Given the description of an element on the screen output the (x, y) to click on. 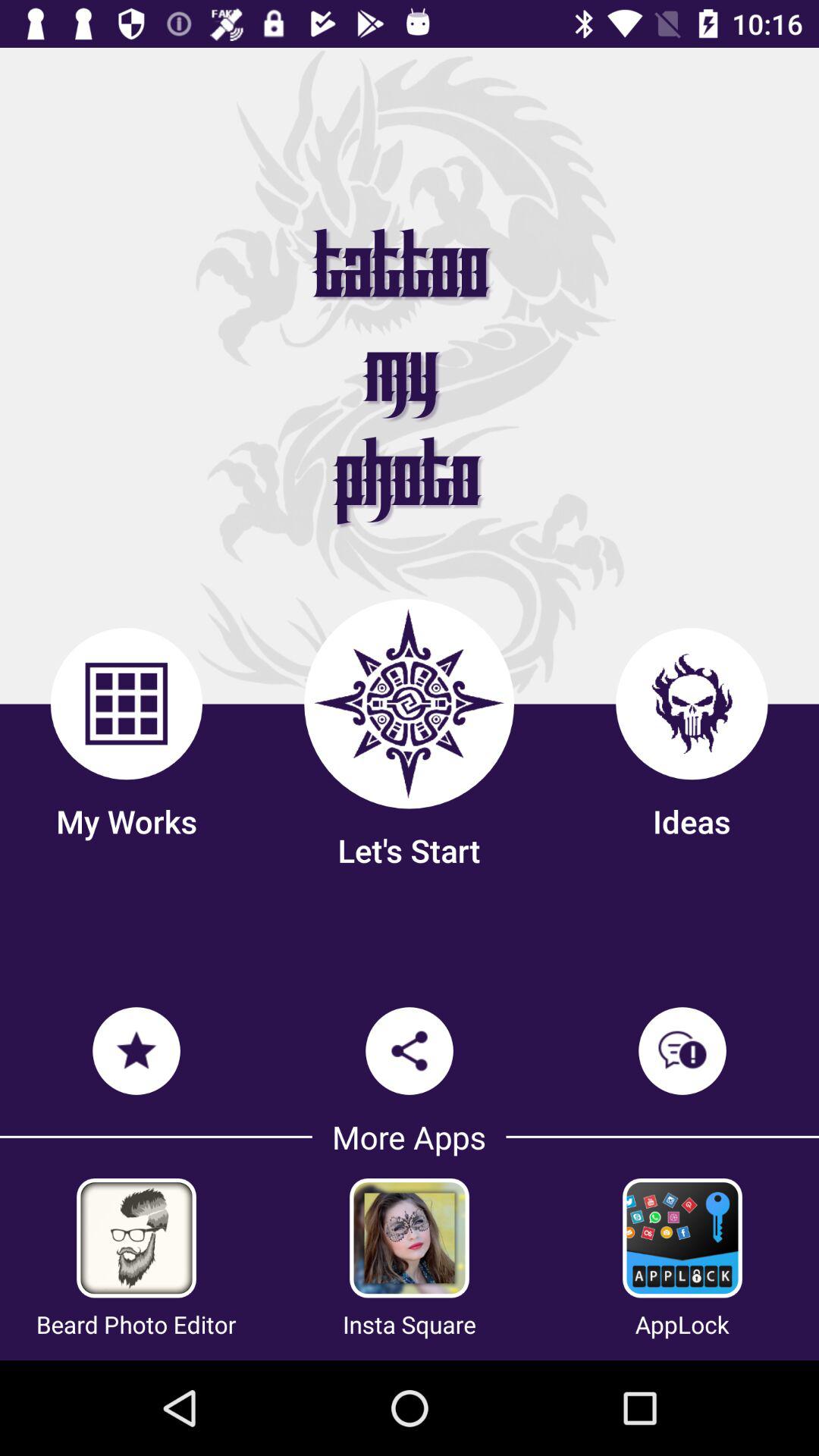
get bear photo editor app (136, 1237)
